Given the description of an element on the screen output the (x, y) to click on. 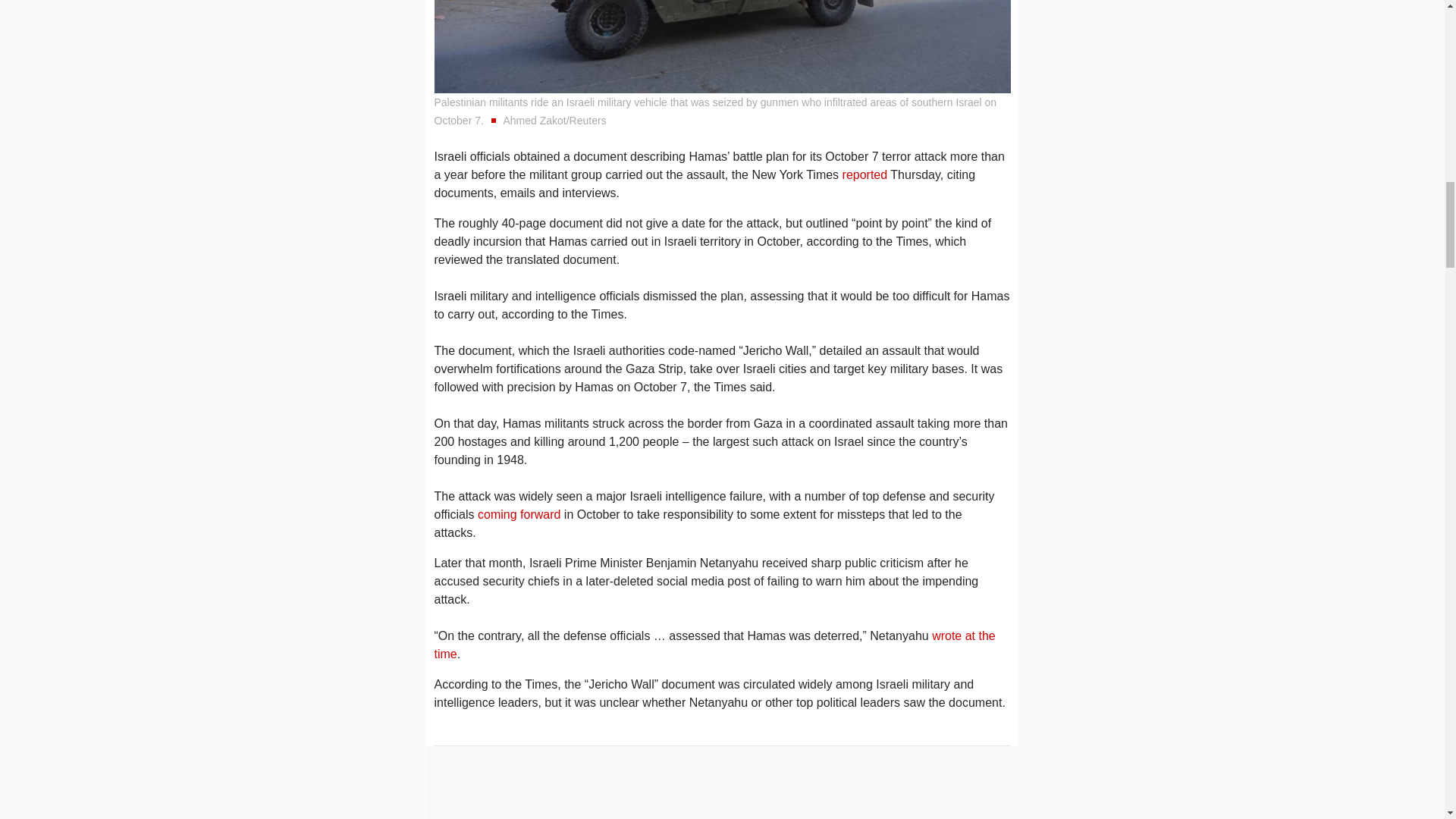
coming forward (518, 513)
reported (865, 174)
wrote at the time (713, 644)
